Given the description of an element on the screen output the (x, y) to click on. 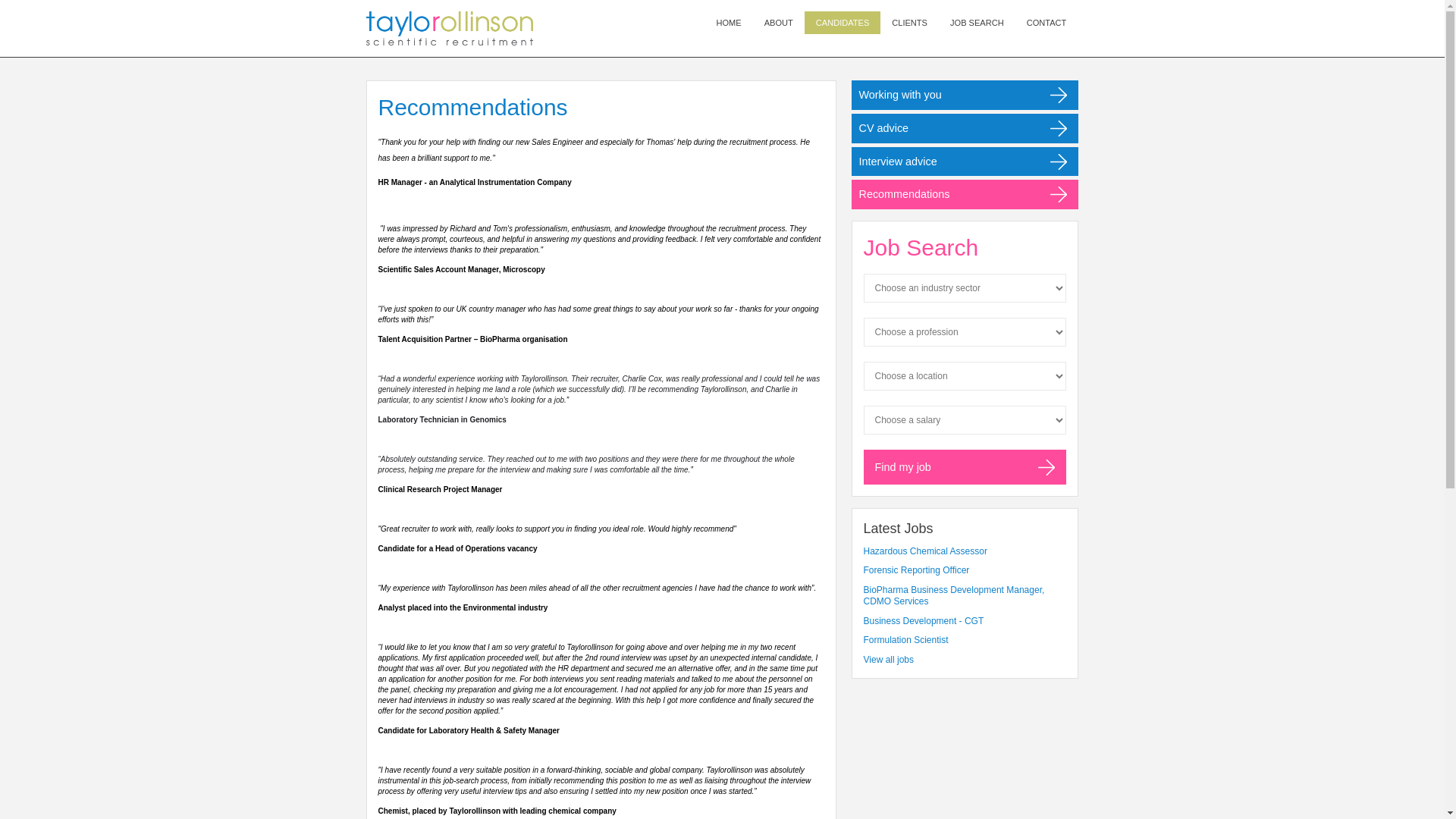
HOME (728, 22)
Home (728, 22)
Job Search (976, 22)
Recommendations (964, 194)
Forensic Reporting Officer (964, 571)
Interview advice (964, 161)
View all jobs (887, 659)
Formulation Scientist (964, 640)
Business Development - CGT (964, 621)
About (778, 22)
JOB SEARCH (976, 22)
Hazardous Chemical Assessor (964, 551)
Working with you (964, 94)
BioPharma Business Development Manager, CDMO Services (964, 596)
Clients (909, 22)
